Given the description of an element on the screen output the (x, y) to click on. 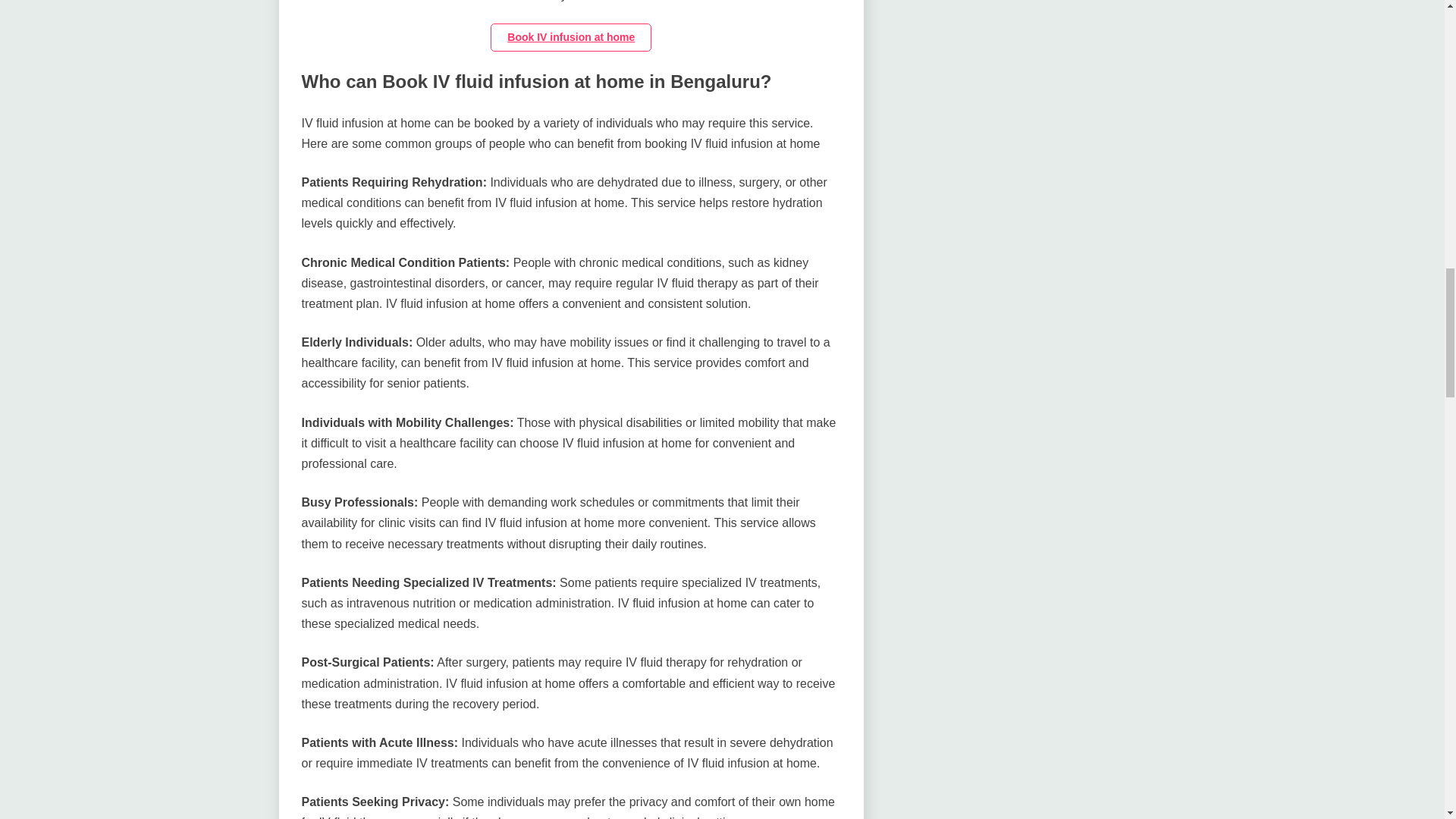
Book IV infusion at home (570, 37)
